Given the description of an element on the screen output the (x, y) to click on. 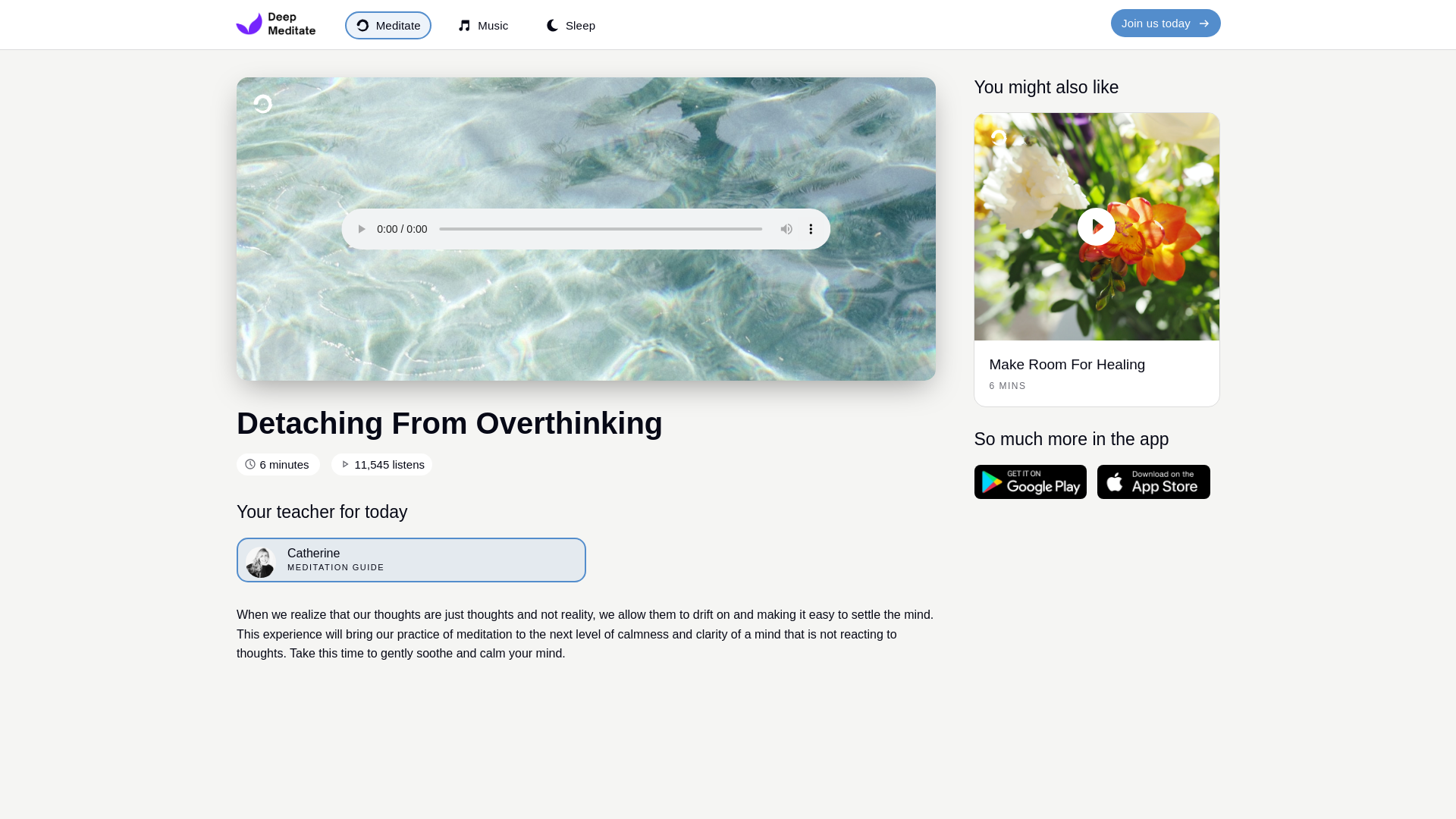
Meditate (387, 25)
Sleep (410, 559)
Music (1097, 119)
Join us today (569, 25)
